Given the description of an element on the screen output the (x, y) to click on. 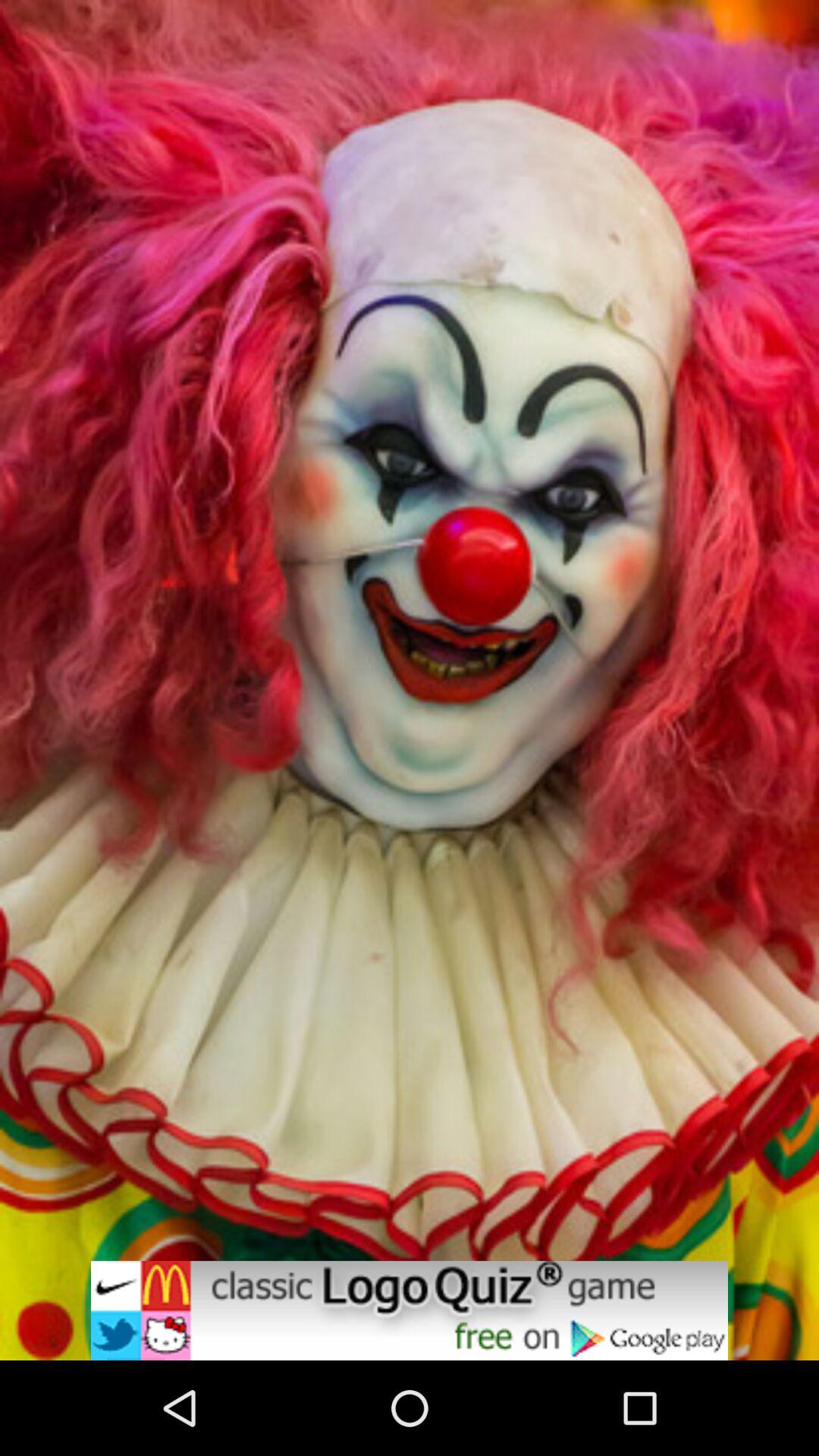
click on game advertisement (409, 1310)
